Given the description of an element on the screen output the (x, y) to click on. 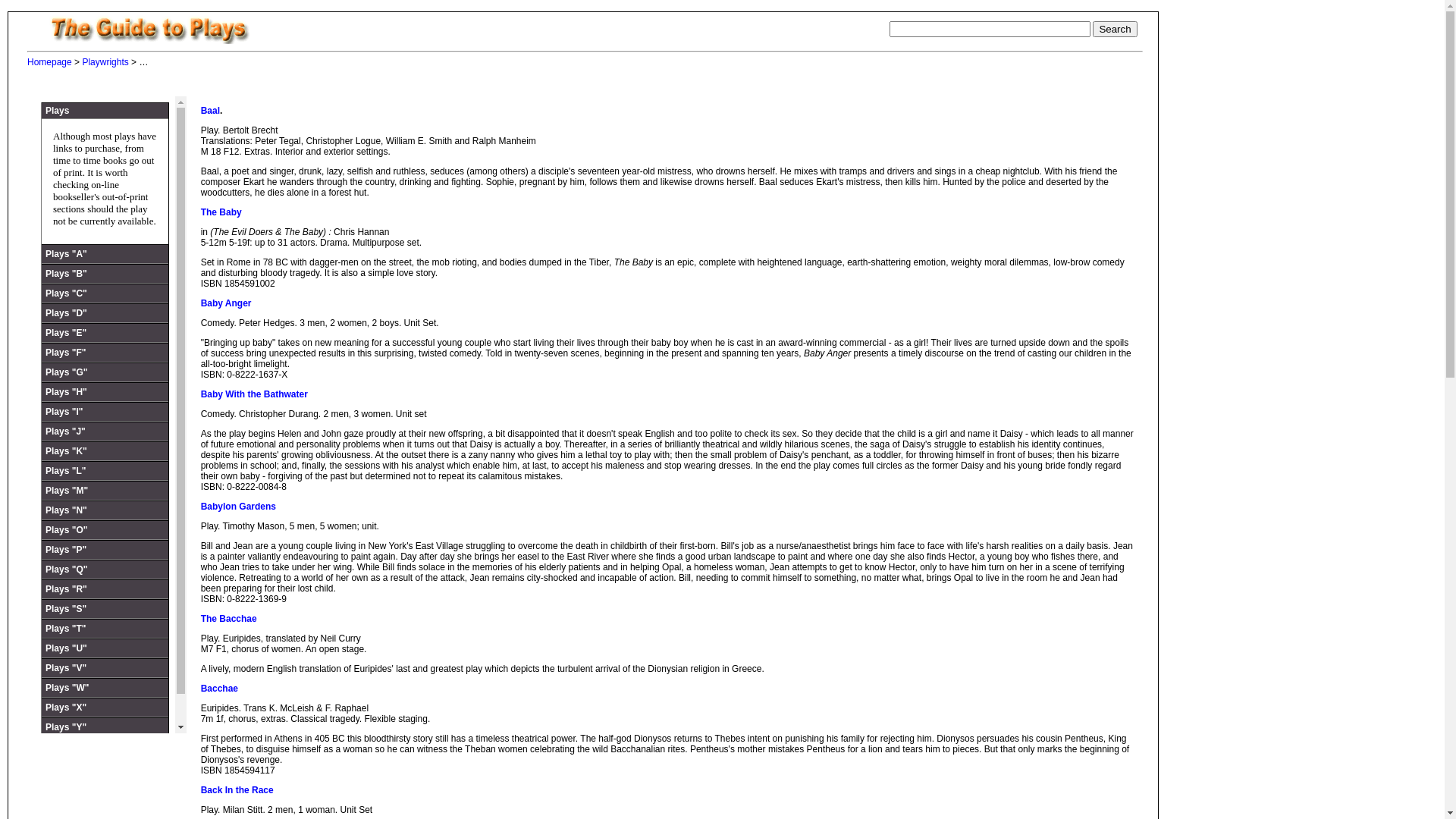
The Baby Element type: text (220, 212)
Baby With the Bathwater Element type: text (253, 394)
Baby Anger Element type: text (225, 303)
Baal Element type: text (209, 110)
Back In the Race Element type: text (236, 789)
Playwrights Element type: text (104, 61)
Bacchae Element type: text (219, 688)
The Bacchae Element type: text (228, 618)
Babylon Gardens Element type: text (238, 506)
Homepage Element type: text (49, 61)
Search Element type: text (1114, 29)
